Given the description of an element on the screen output the (x, y) to click on. 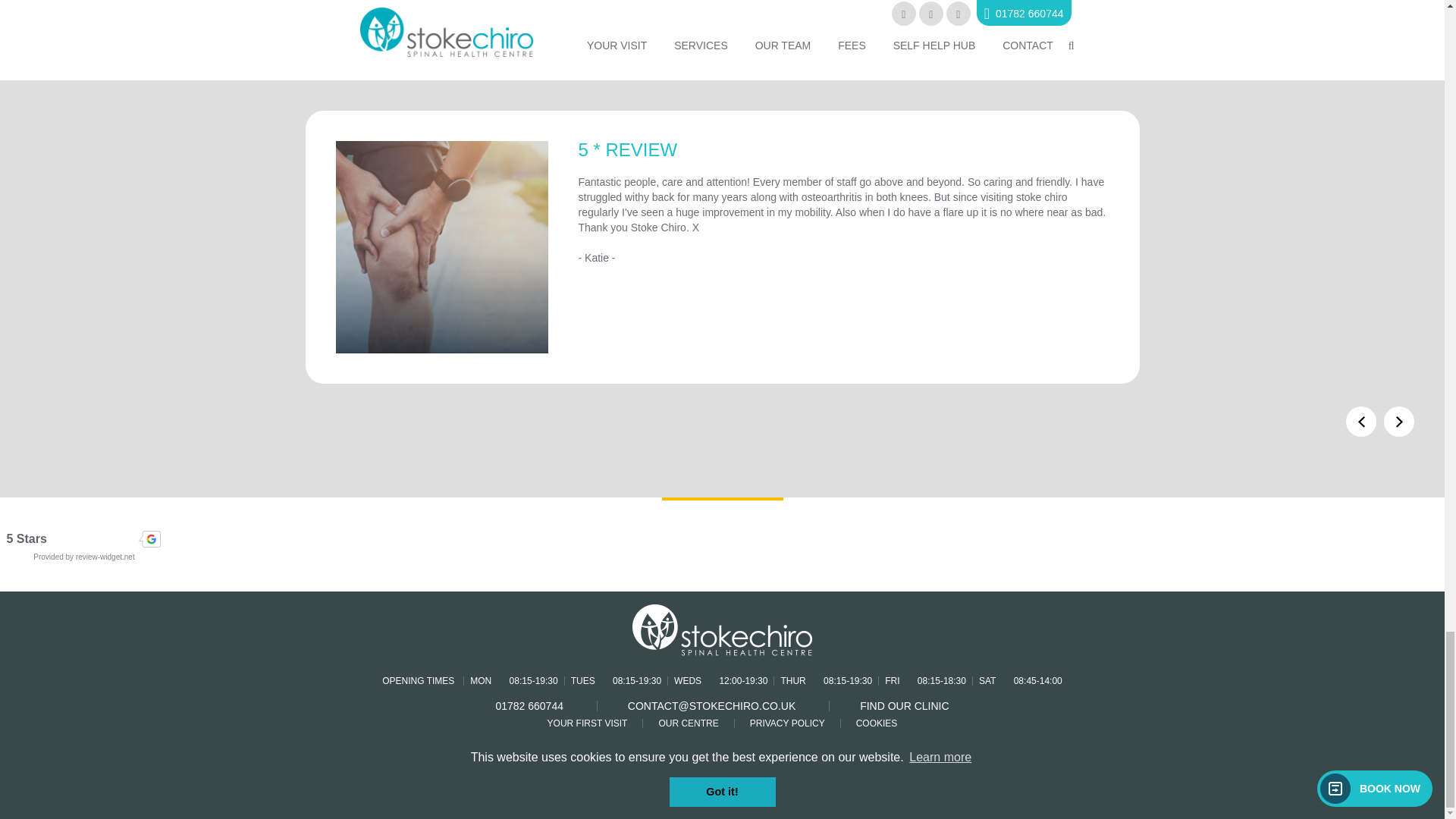
PRIVACY POLICY (787, 723)
FIND OUR CLINIC (904, 705)
COOKIES (877, 723)
review-widget.net (105, 556)
YOUR FIRST VISIT (587, 723)
01782 660744 (529, 705)
www.stokechiro.co.uk (686, 25)
OUR CENTRE (687, 723)
5 Stars (84, 538)
